Given the description of an element on the screen output the (x, y) to click on. 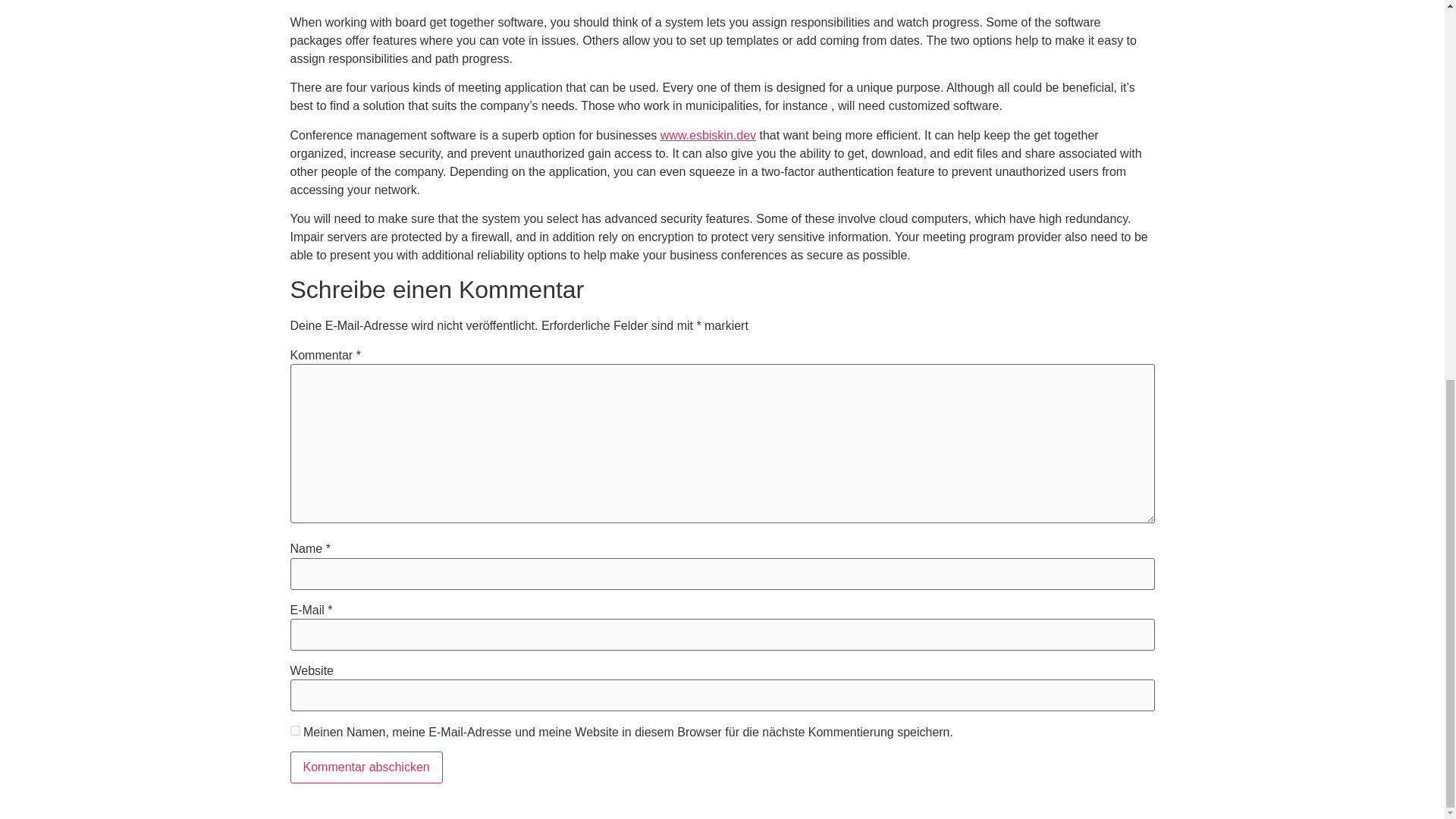
www.esbiskin.dev (708, 134)
Kommentar abschicken (365, 766)
Kommentar abschicken (365, 766)
yes (294, 730)
